Given the description of an element on the screen output the (x, y) to click on. 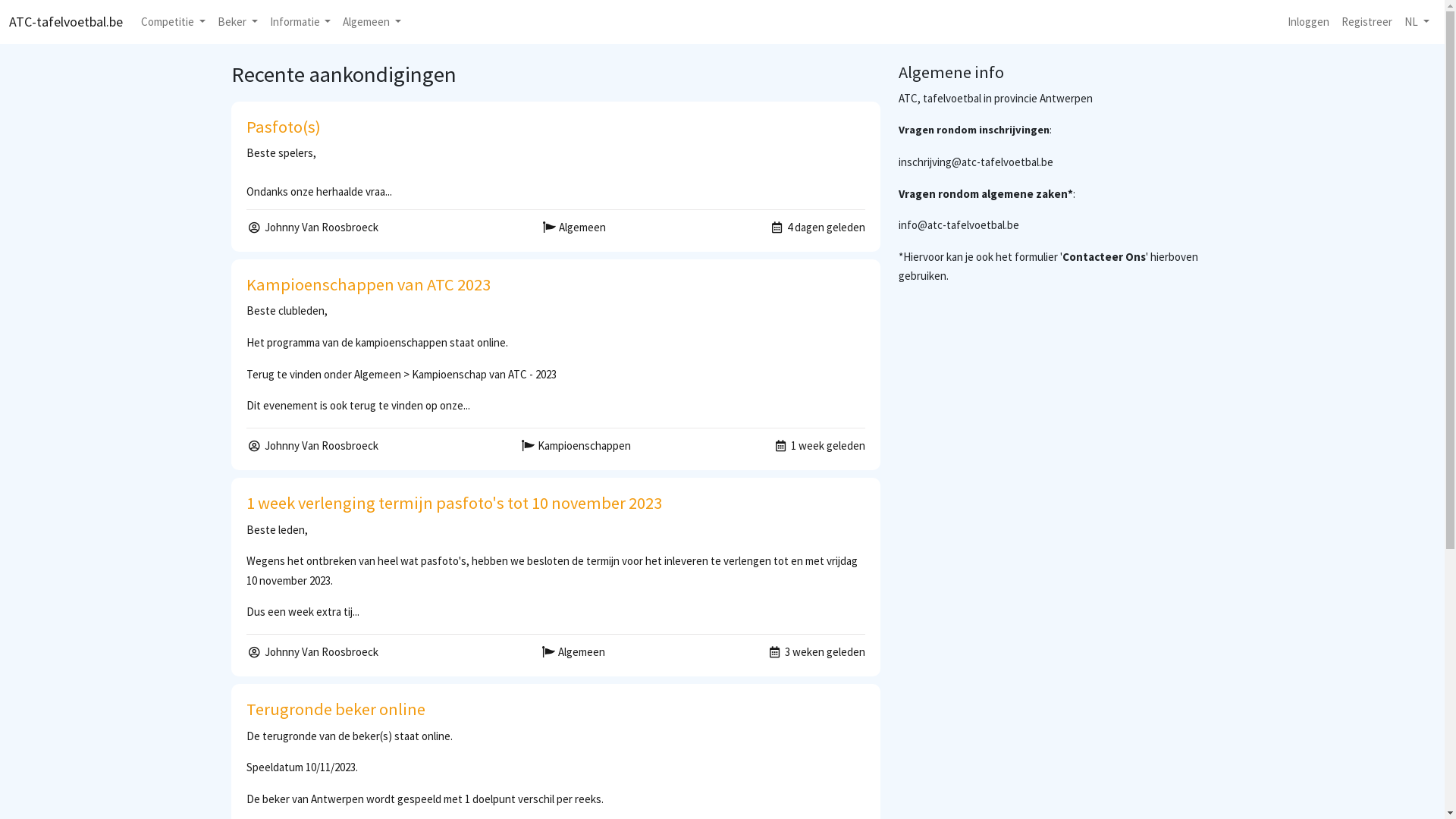
Informatie Element type: text (300, 21)
Registreer Element type: text (1366, 21)
Inloggen Element type: text (1308, 21)
Algemeen Element type: text (371, 21)
Beker Element type: text (237, 21)
NL Element type: text (1416, 21)
ATC-tafelvoetbal.be Element type: text (65, 21)
Competitie Element type: text (172, 21)
